Given the description of an element on the screen output the (x, y) to click on. 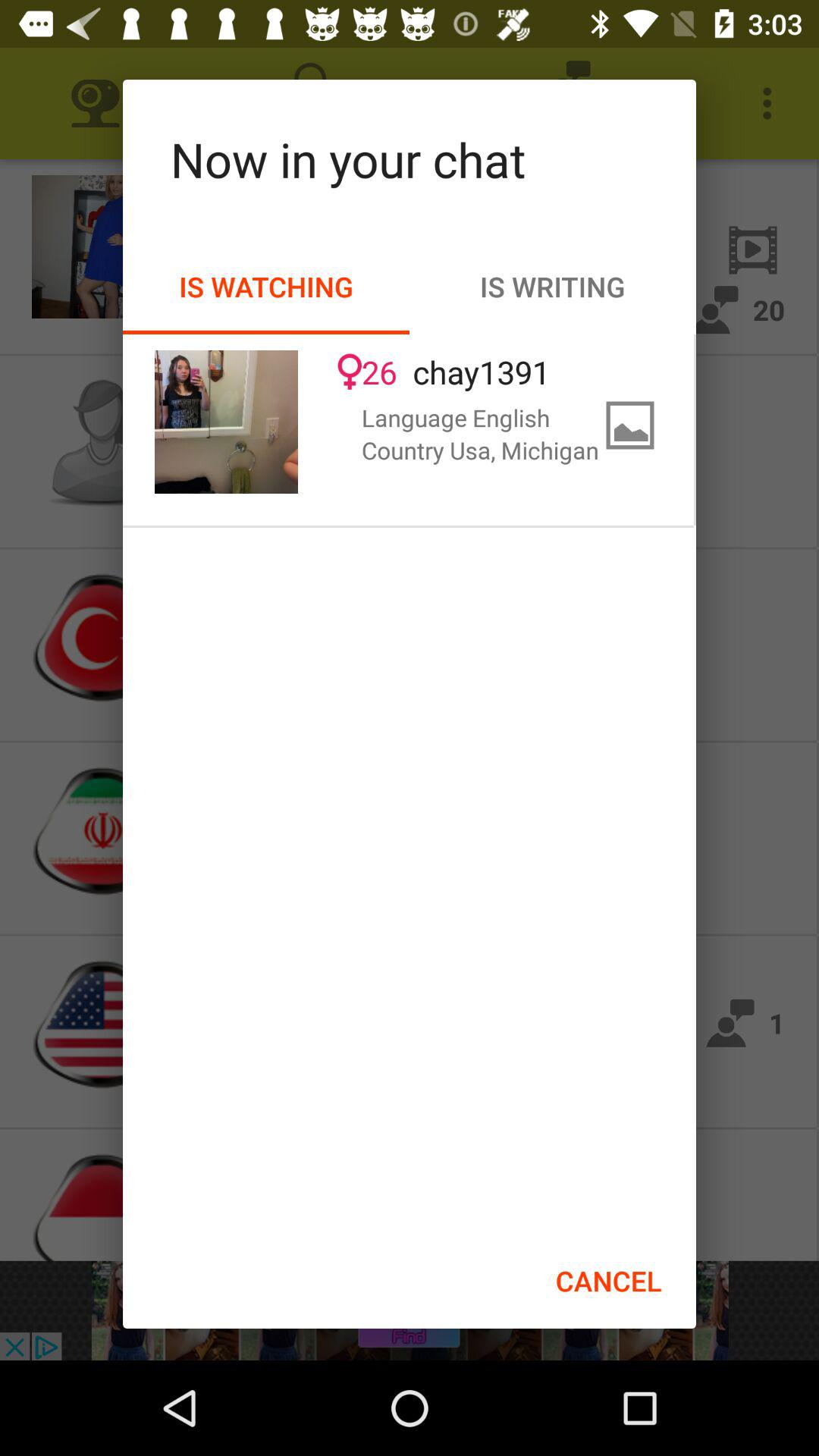
tap the item below the country usa, michigan icon (608, 1280)
